Given the description of an element on the screen output the (x, y) to click on. 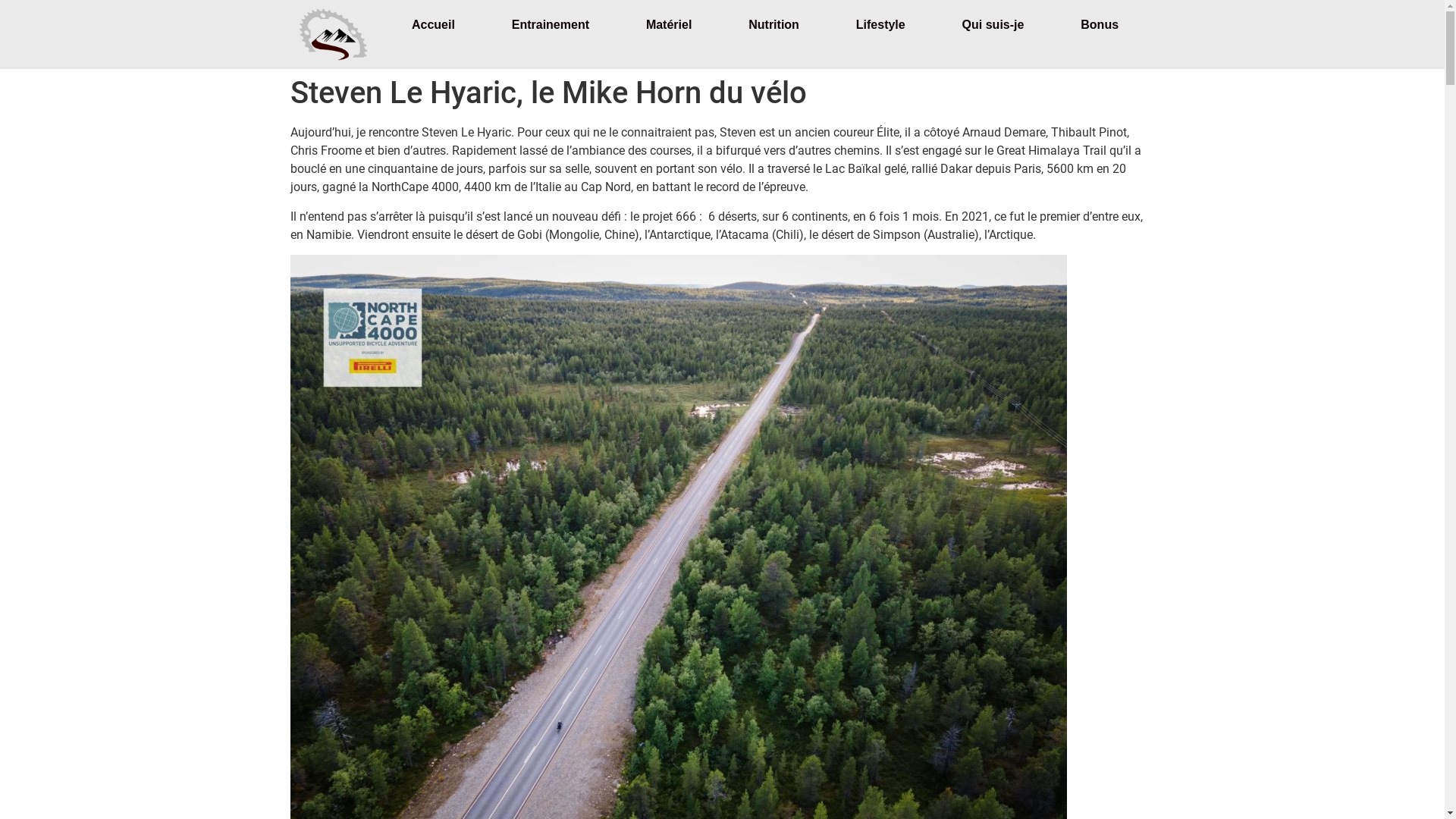
Qui suis-je Element type: text (992, 24)
Lifestyle Element type: text (880, 24)
Entrainement Element type: text (550, 24)
Bonus Element type: text (1099, 24)
Nutrition Element type: text (774, 24)
Accueil Element type: text (432, 24)
